Given the description of an element on the screen output the (x, y) to click on. 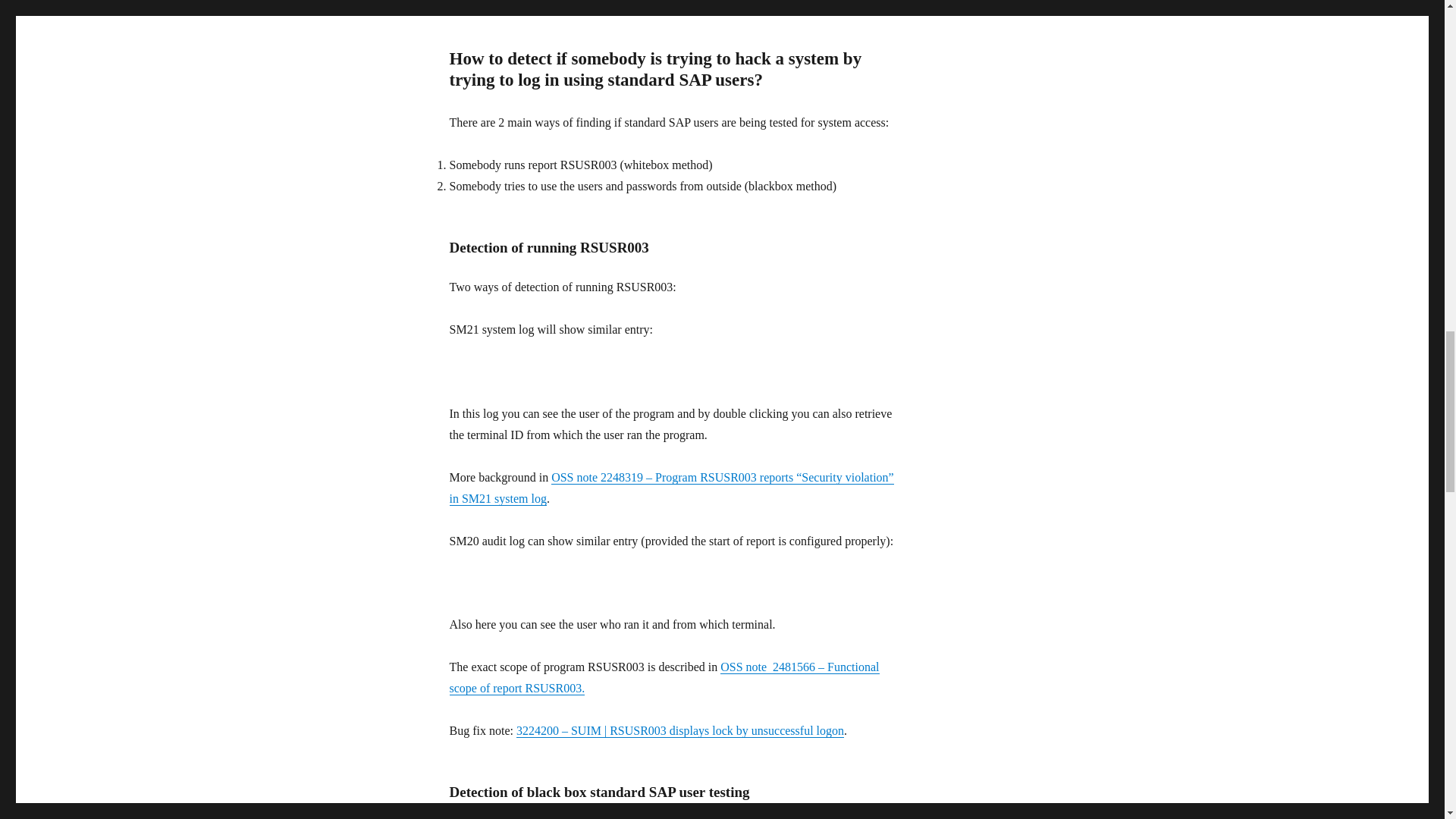
blog (633, 0)
